Given the description of an element on the screen output the (x, y) to click on. 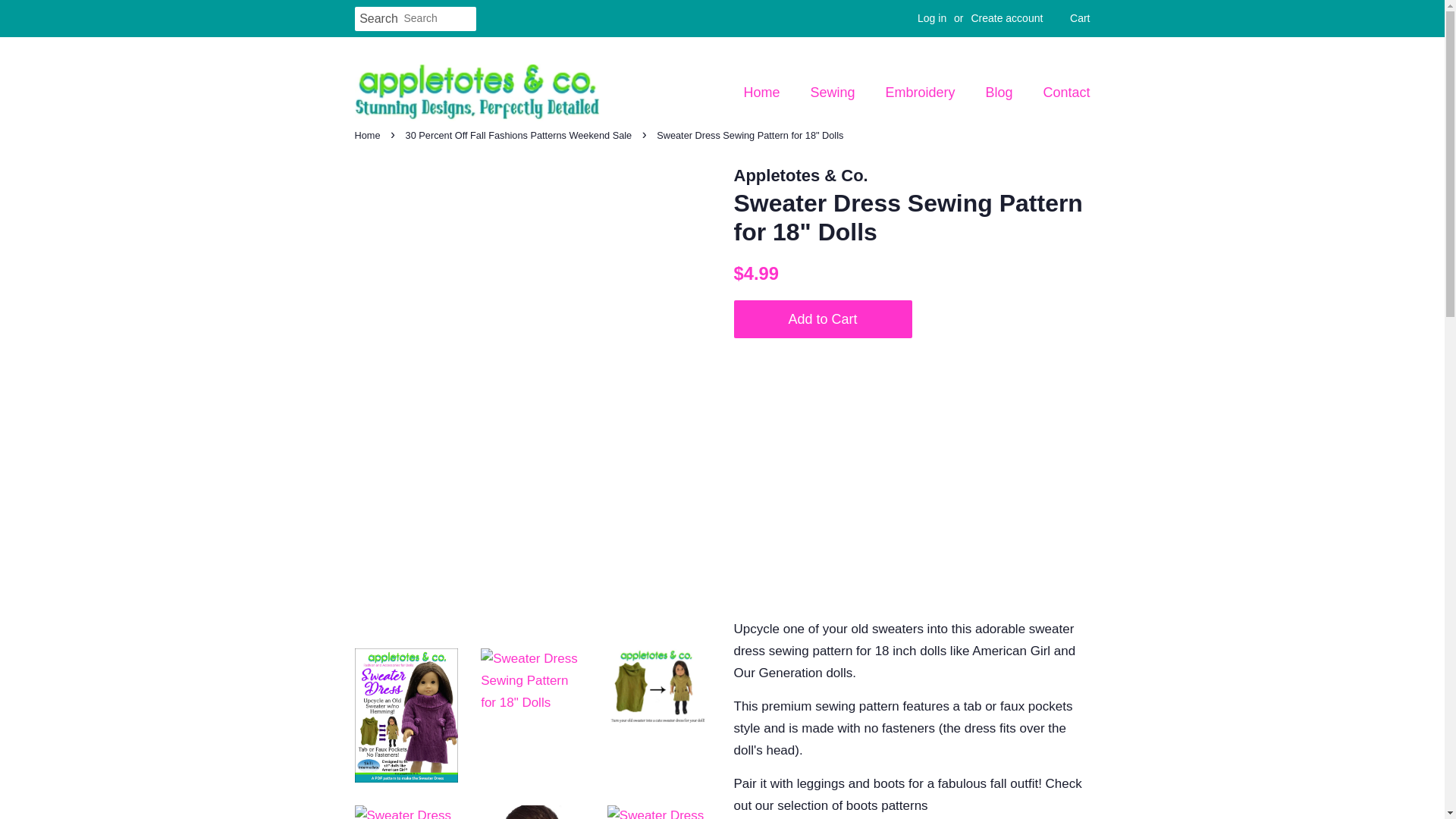
Back to the frontpage (369, 134)
Cart (1079, 18)
Create account (1006, 18)
Sewing (834, 92)
Search (379, 18)
Home (769, 92)
Embroidery (923, 92)
Log in (931, 18)
